Given the description of an element on the screen output the (x, y) to click on. 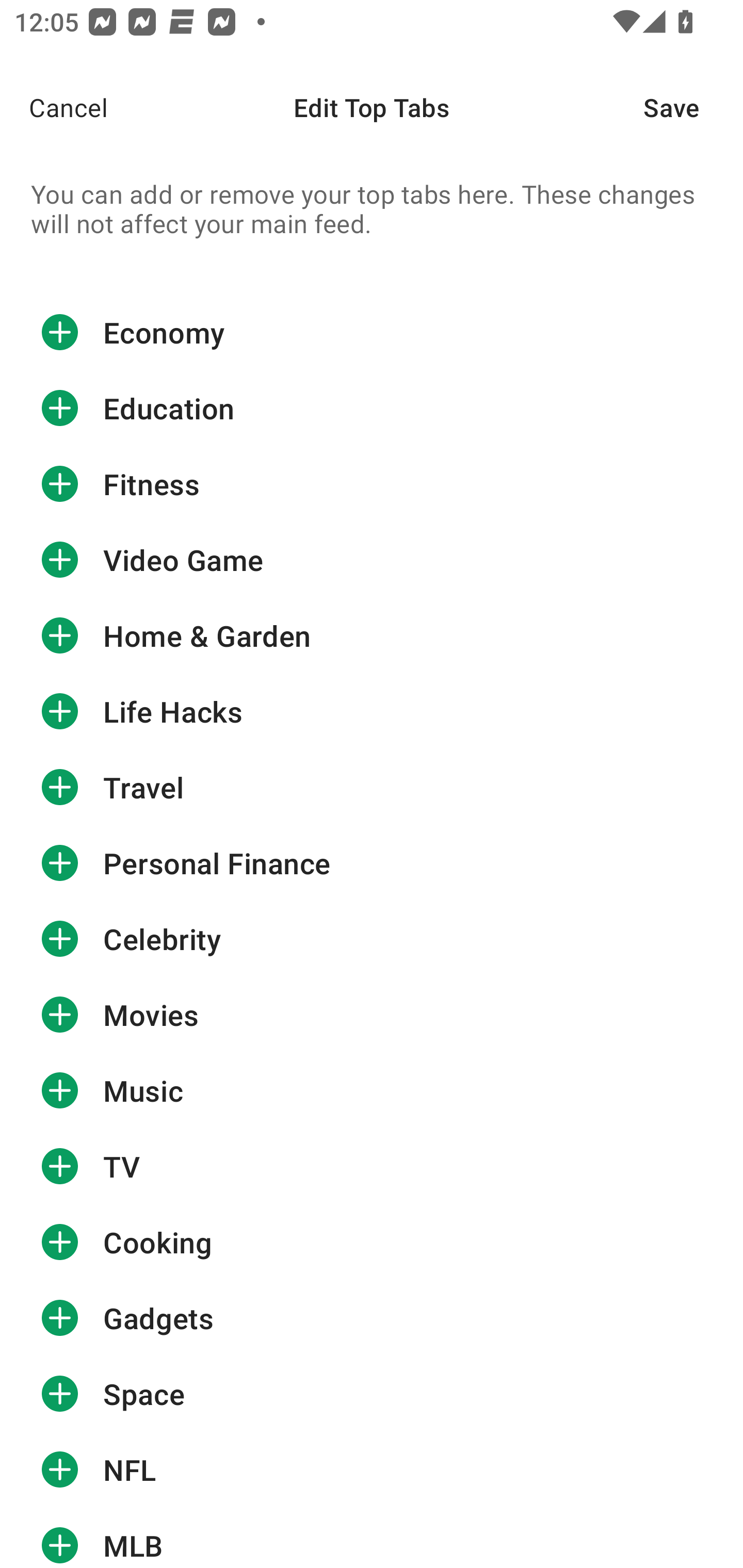
Cancel (53, 106)
Save (693, 106)
Economy (371, 332)
Education (371, 408)
Fitness (371, 484)
Video Game (371, 559)
Home & Garden (371, 635)
Life Hacks (371, 711)
Travel (371, 786)
Personal Finance (371, 862)
Celebrity (371, 938)
Movies (371, 1014)
Music (371, 1090)
TV (371, 1166)
Cooking (371, 1241)
Gadgets (371, 1317)
Space (371, 1393)
NFL (371, 1469)
MLB (371, 1538)
